Given the description of an element on the screen output the (x, y) to click on. 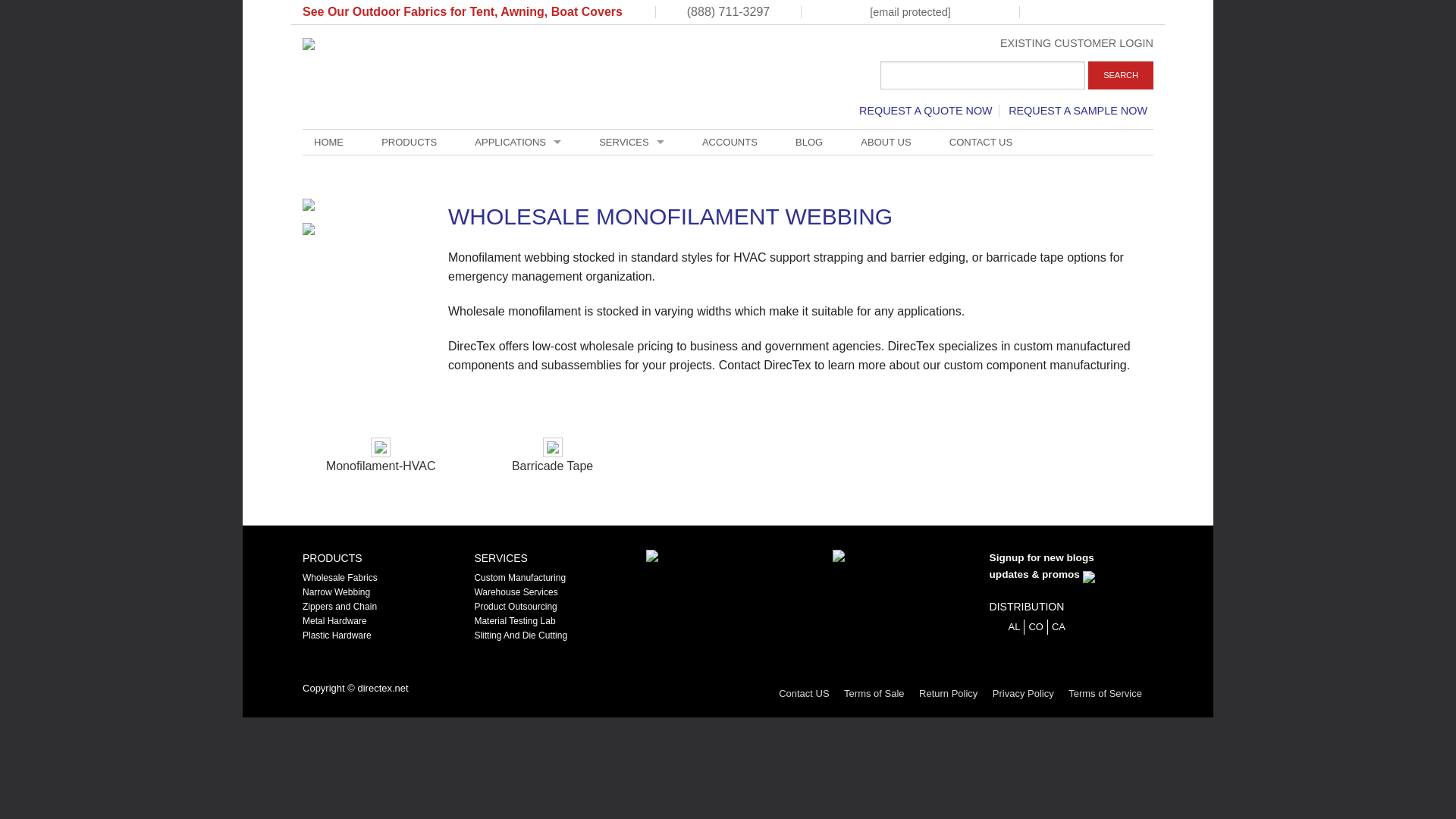
APPLICATIONS (517, 141)
REQUEST A SAMPLE NOW (1078, 110)
PRODUCTS (408, 141)
HOME (328, 141)
See Our Outdoor Fabrics for Tent, Awning, Boat Covers (462, 11)
SERVICES (631, 141)
SEARCH (1120, 75)
EXISTING CUSTOMER LOGIN (1076, 42)
search (982, 75)
REQUEST A QUOTE NOW (925, 110)
